Given the description of an element on the screen output the (x, y) to click on. 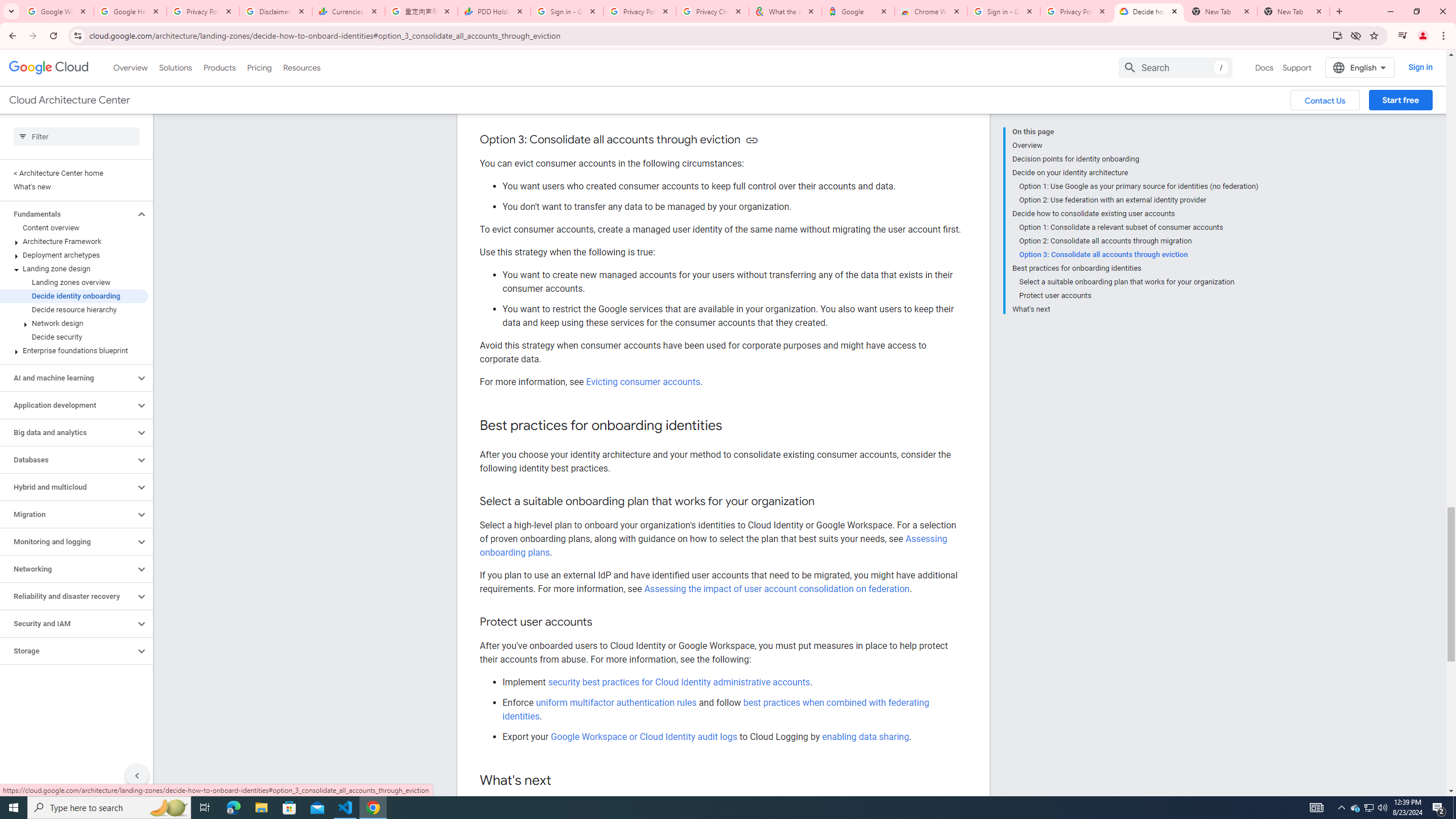
Install Google Cloud (1336, 35)
Deployment archetypes (74, 255)
Application development (67, 404)
Assessing onboarding plans (713, 545)
Networking (67, 568)
Hybrid and multicloud (67, 486)
Option 2: Consolidate all accounts through migration (1138, 241)
Google (857, 11)
Privacy Checkup (712, 11)
Enterprise foundations blueprint (74, 350)
Cloud Architecture Center (68, 100)
Copy link to this section: What's next (563, 780)
Decide identity onboarding (74, 296)
